Given the description of an element on the screen output the (x, y) to click on. 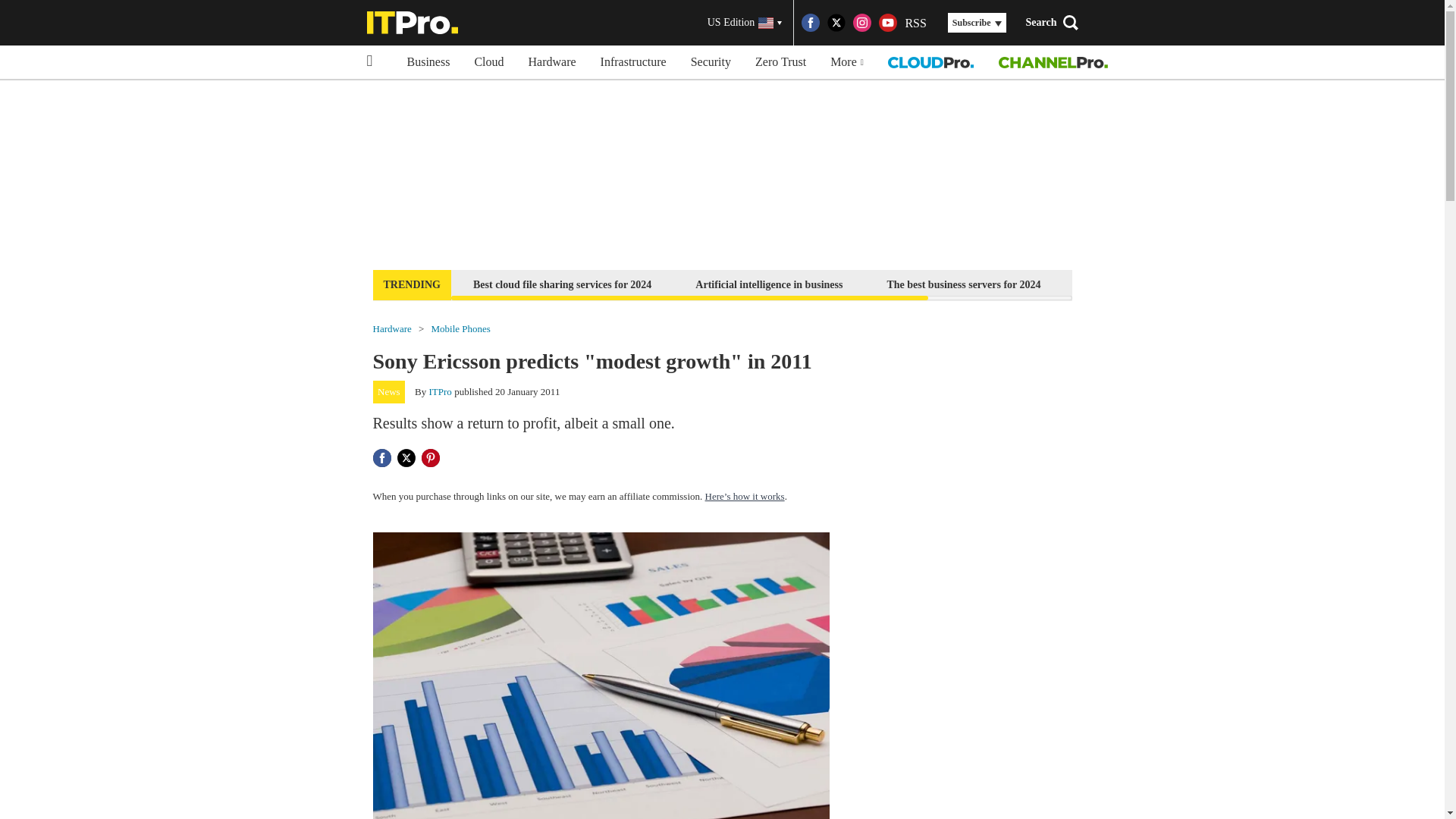
RSS (915, 22)
Mobile Phones (459, 327)
Zero Trust (780, 61)
Artificial intelligence in business (768, 284)
Business (427, 61)
Cloud (488, 61)
Infrastructure (633, 61)
News (389, 391)
Best cloud file sharing services for 2024 (561, 284)
Hardware (392, 327)
